Given the description of an element on the screen output the (x, y) to click on. 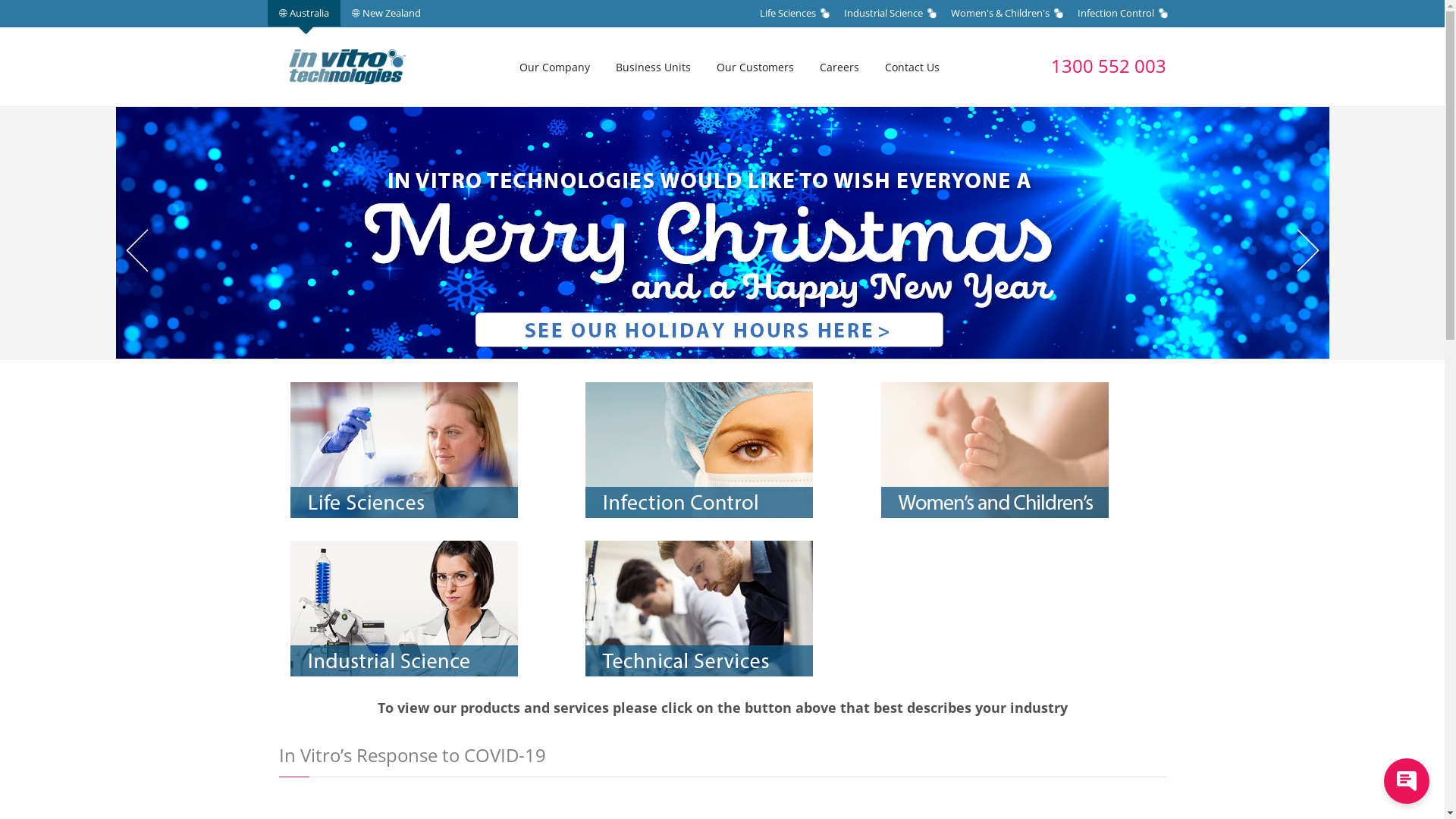
1300 552 003 Element type: text (1108, 65)
Australia Element type: text (302, 13)
Business Units Element type: text (653, 67)
Life Sciences Element type: text (796, 13)
Our Customers Element type: text (754, 67)
Infection Control Element type: text (1124, 13)
Our Company Element type: text (553, 67)
Careers Element type: text (838, 67)
Industrial Science Element type: text (891, 13)
Women's & Children's Element type: text (1008, 13)
Contact Us Element type: text (911, 67)
New Zealand Element type: text (385, 13)
